Given the description of an element on the screen output the (x, y) to click on. 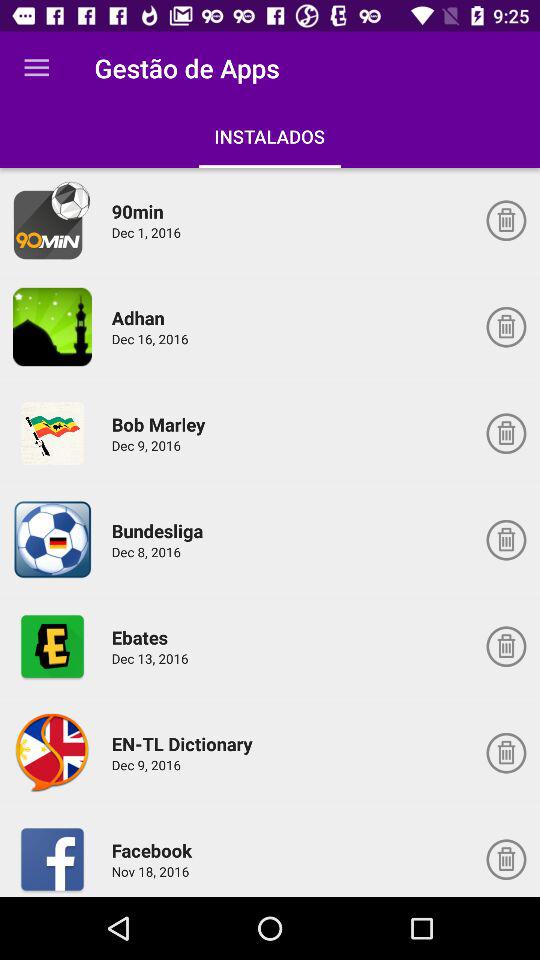
choose the icon below the dec 1, 2016 icon (141, 317)
